Given the description of an element on the screen output the (x, y) to click on. 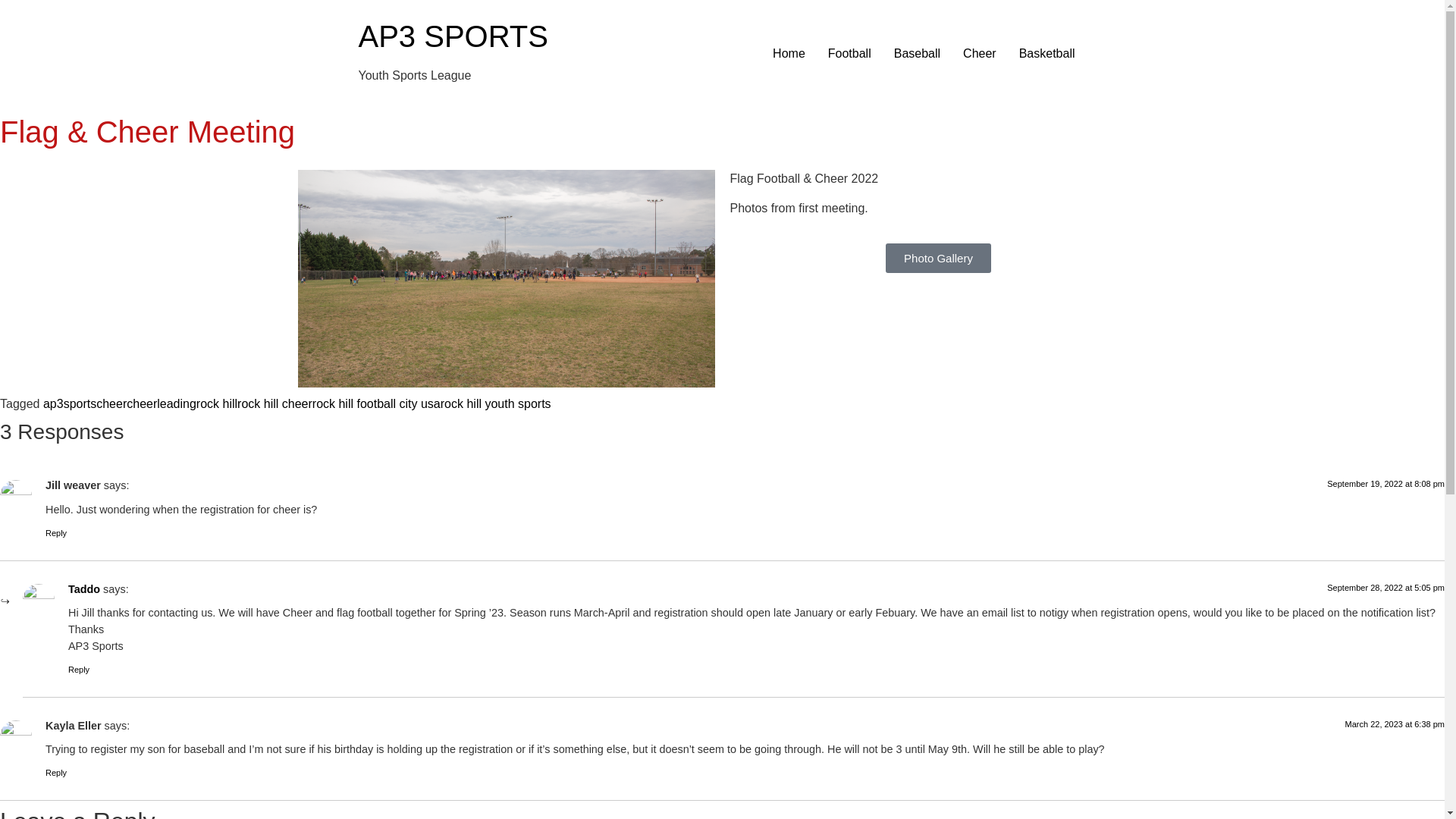
Reply (78, 669)
Home (788, 53)
rock hill cheer (275, 403)
Baseball (917, 53)
Home (452, 36)
ap3sports (69, 403)
Football (849, 53)
rock hill football city usa (377, 403)
AP3 SPORTS (452, 36)
cheer (111, 403)
Reply (55, 772)
Photo Gallery (938, 257)
Reply (55, 532)
Basketball (1046, 53)
Cheer (979, 53)
